Given the description of an element on the screen output the (x, y) to click on. 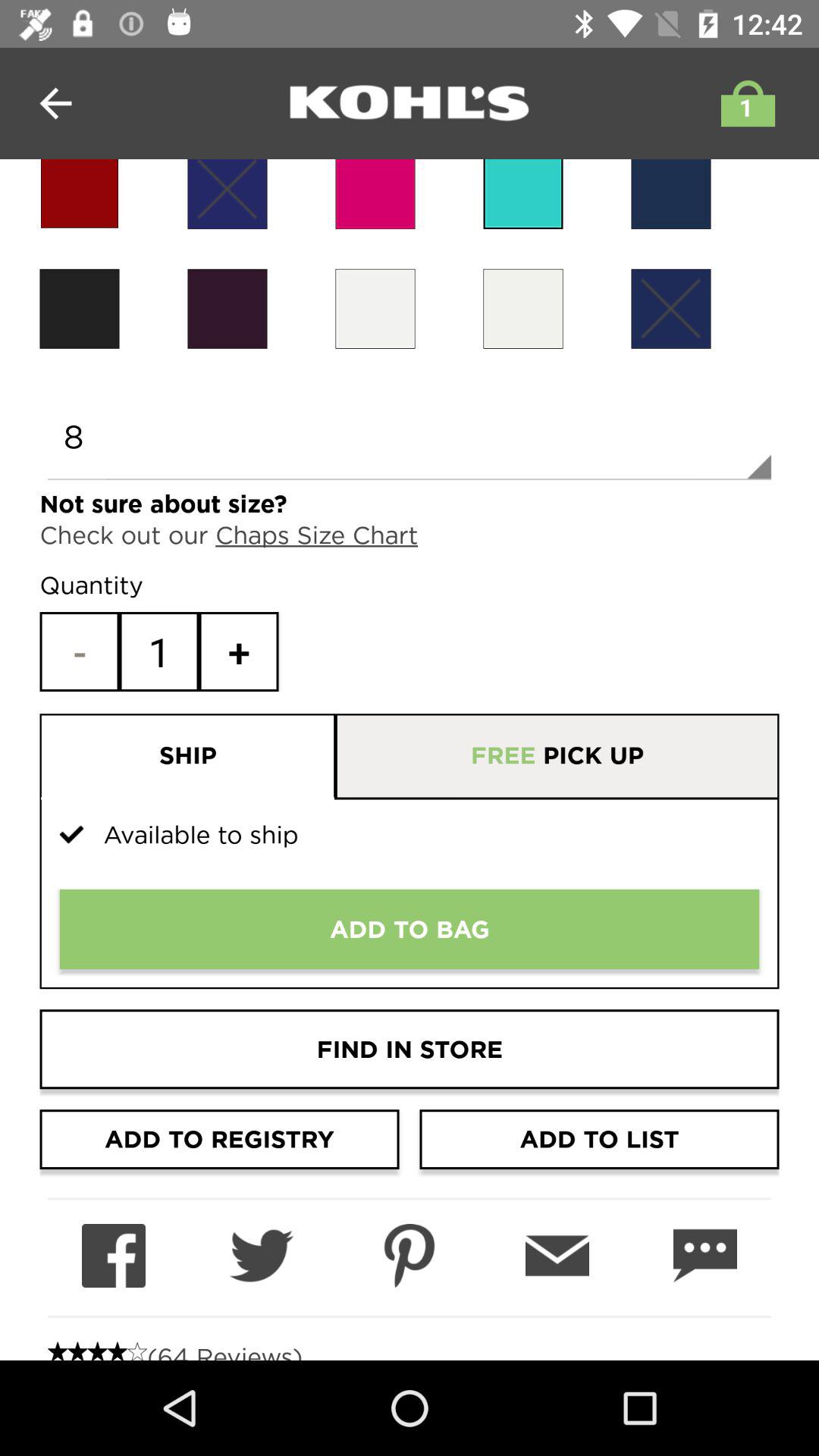
go back (55, 103)
